Given the description of an element on the screen output the (x, y) to click on. 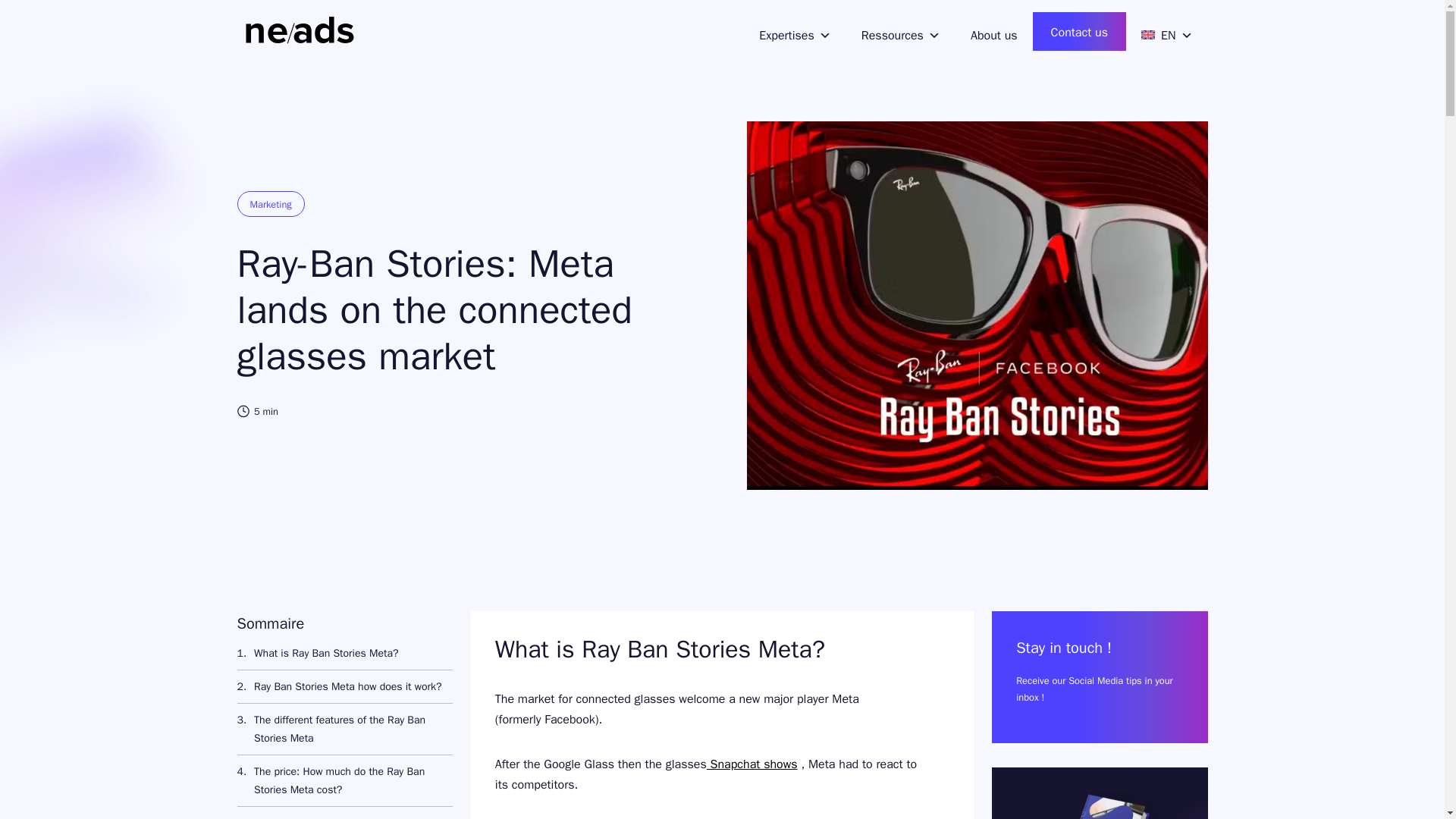
Expertises (790, 31)
The different features of the Ray Ban Stories Meta (343, 728)
About us (993, 31)
Towards an increasingly connected world? (341, 812)
EN (1166, 31)
The price: How much do the Ray Ban Stories Meta cost? (343, 780)
Ressources (900, 31)
EN (1166, 31)
Marketing (269, 203)
Contact us (1078, 31)
